Given the description of an element on the screen output the (x, y) to click on. 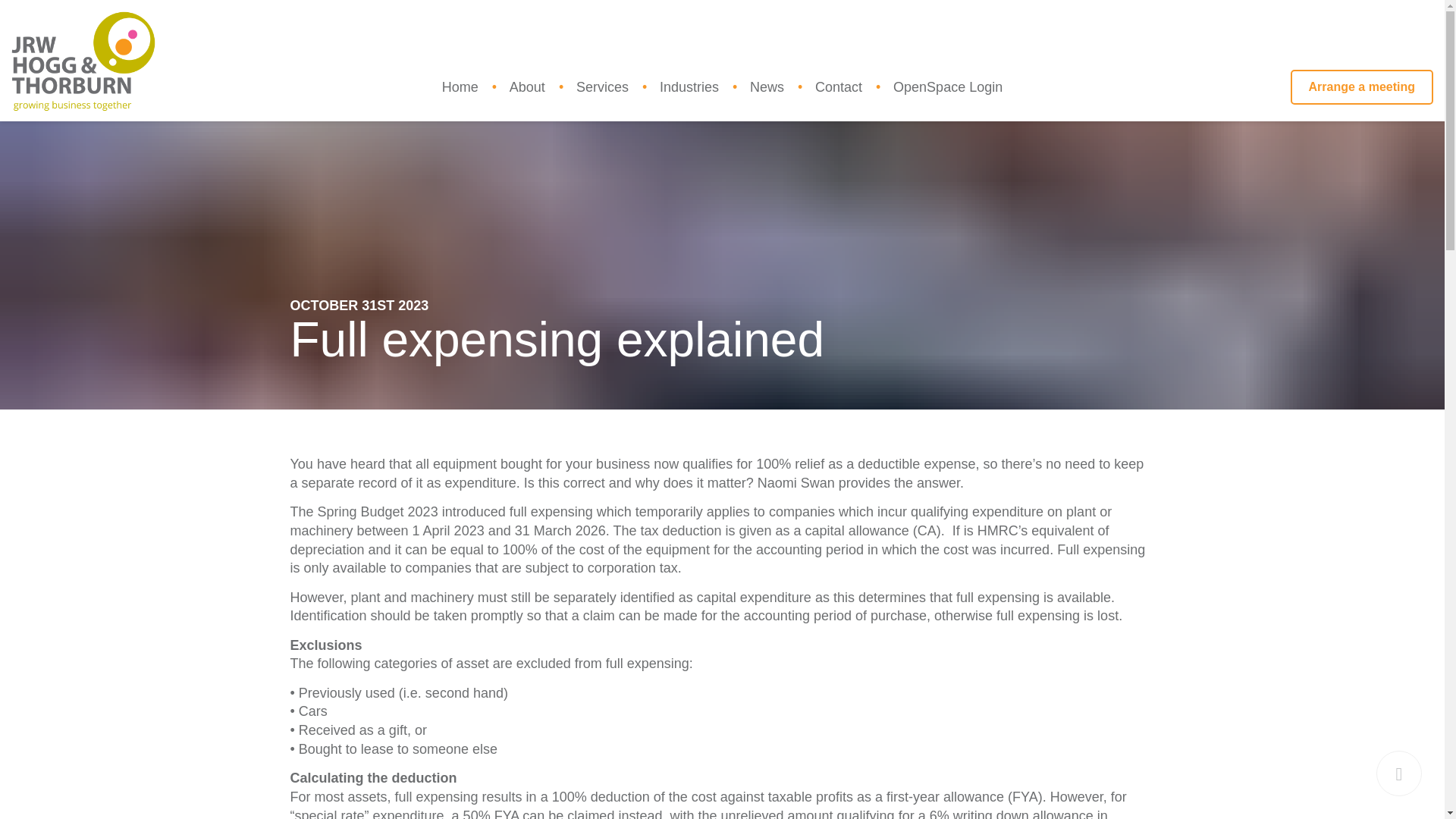
OpenSpace Login (947, 86)
Services (602, 86)
Arrange a meeting (1361, 86)
Industries (689, 86)
News (766, 86)
Arrange a meeting (1361, 86)
About (527, 86)
Services (602, 86)
OpenSpace Login (947, 86)
Contact (839, 86)
Home (460, 86)
Home (460, 86)
About (527, 86)
Contact (839, 86)
News (766, 86)
